Given the description of an element on the screen output the (x, y) to click on. 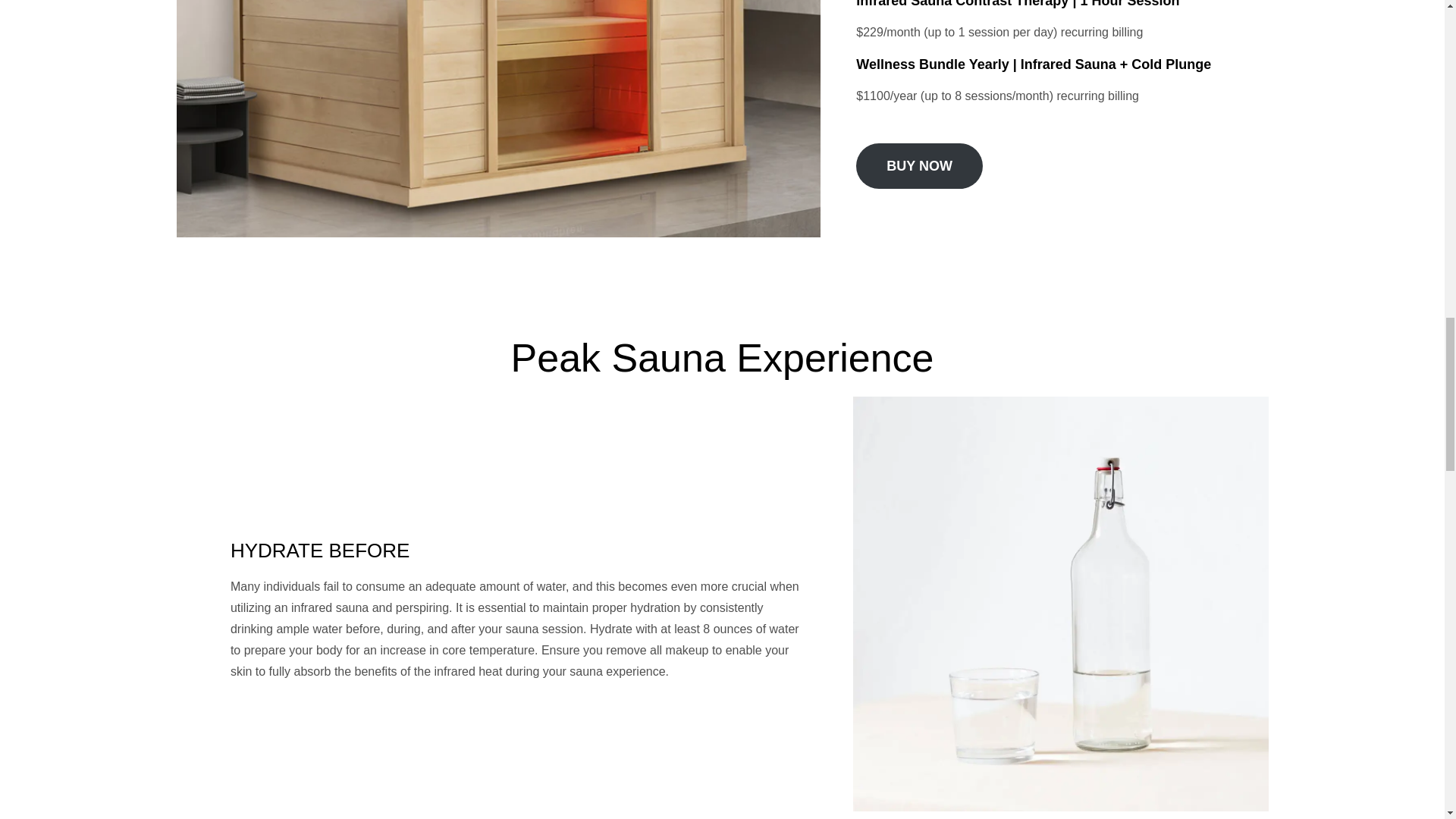
BUY NOW (919, 166)
